Given the description of an element on the screen output the (x, y) to click on. 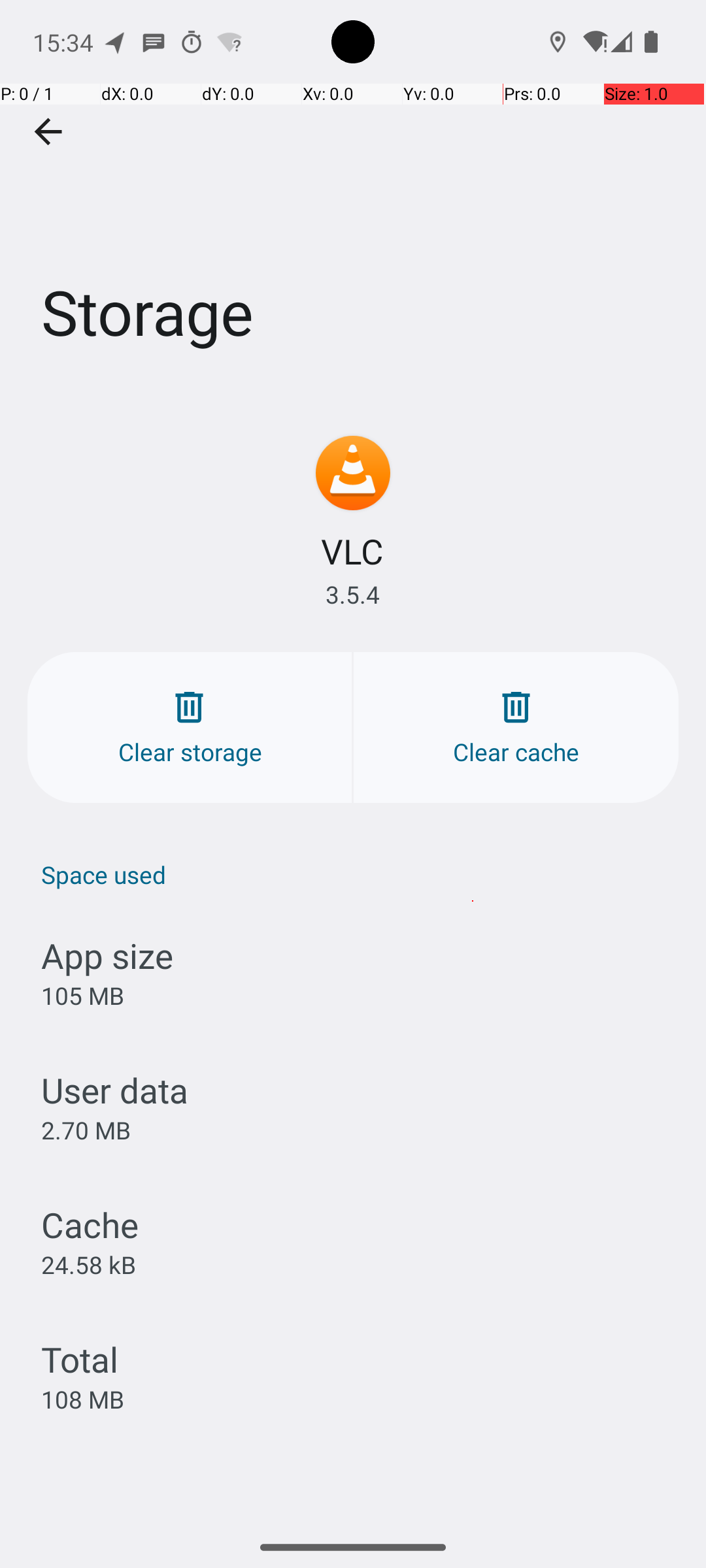
3.5.4 Element type: android.widget.TextView (352, 593)
105 MB Element type: android.widget.TextView (82, 995)
2.70 MB Element type: android.widget.TextView (85, 1129)
24.58 kB Element type: android.widget.TextView (88, 1264)
108 MB Element type: android.widget.TextView (82, 1398)
